Given the description of an element on the screen output the (x, y) to click on. 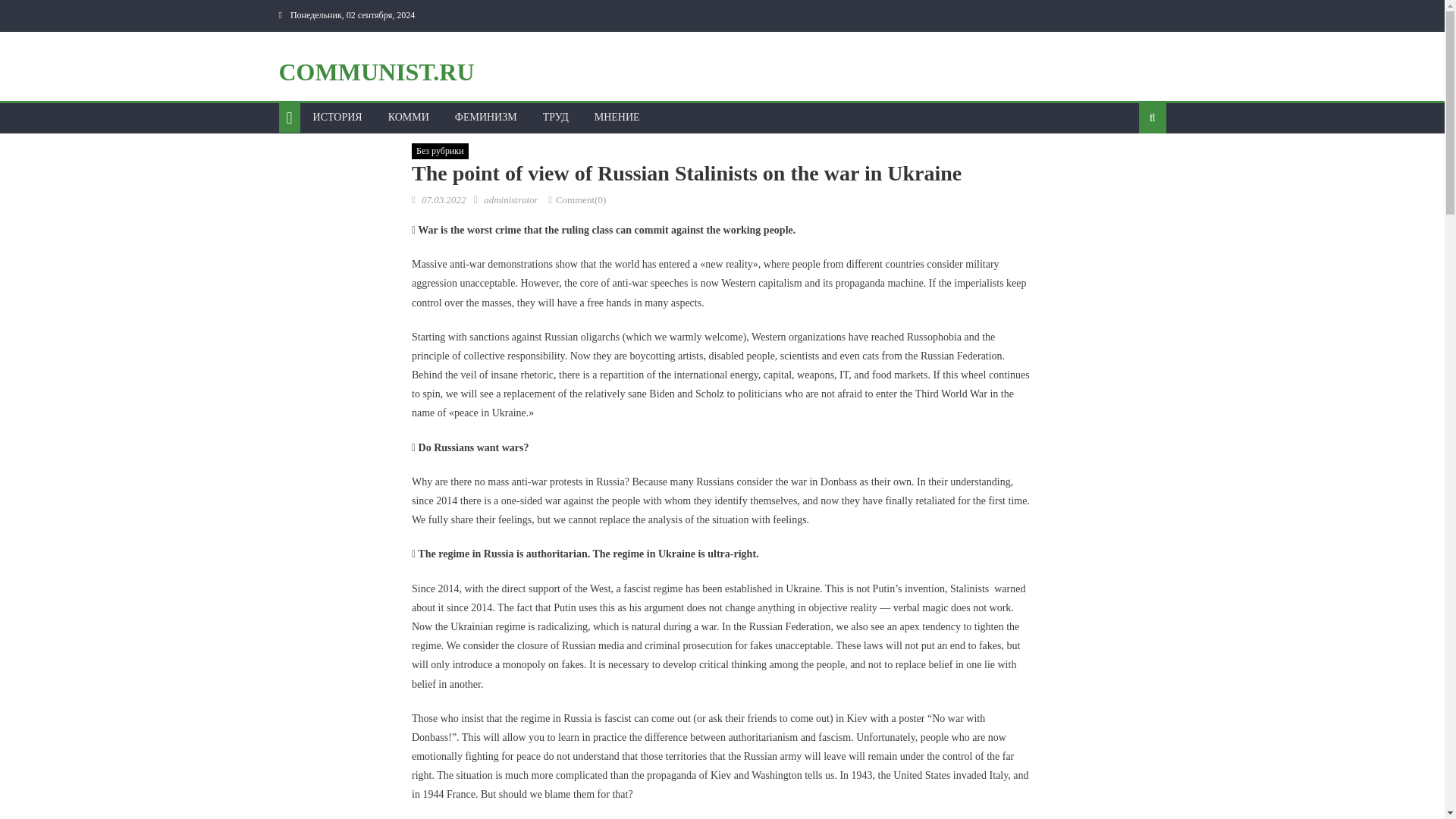
COMMUNIST.RU (376, 71)
administrator (510, 199)
07.03.2022 (443, 199)
